Given the description of an element on the screen output the (x, y) to click on. 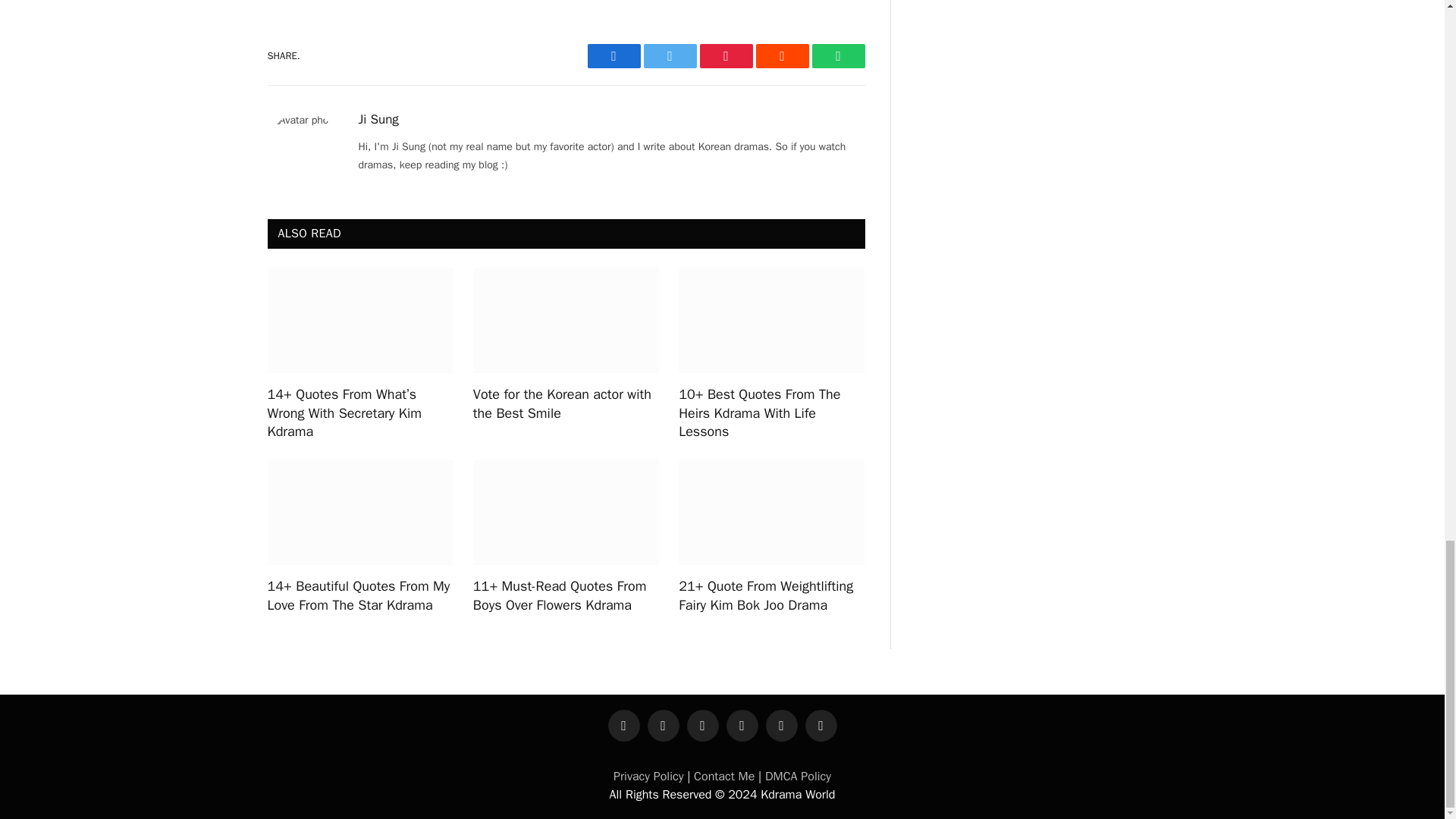
Share on Facebook (613, 55)
Twitter (669, 55)
Vote for the Korean actor with the Best Smile (566, 320)
Reddit (781, 55)
Share on WhatsApp (837, 55)
Vote for the Korean actor with the Best Smile (566, 403)
Posts by Ji Sung (377, 119)
Ji Sung (377, 119)
Share on Reddit (781, 55)
WhatsApp (837, 55)
